Given the description of an element on the screen output the (x, y) to click on. 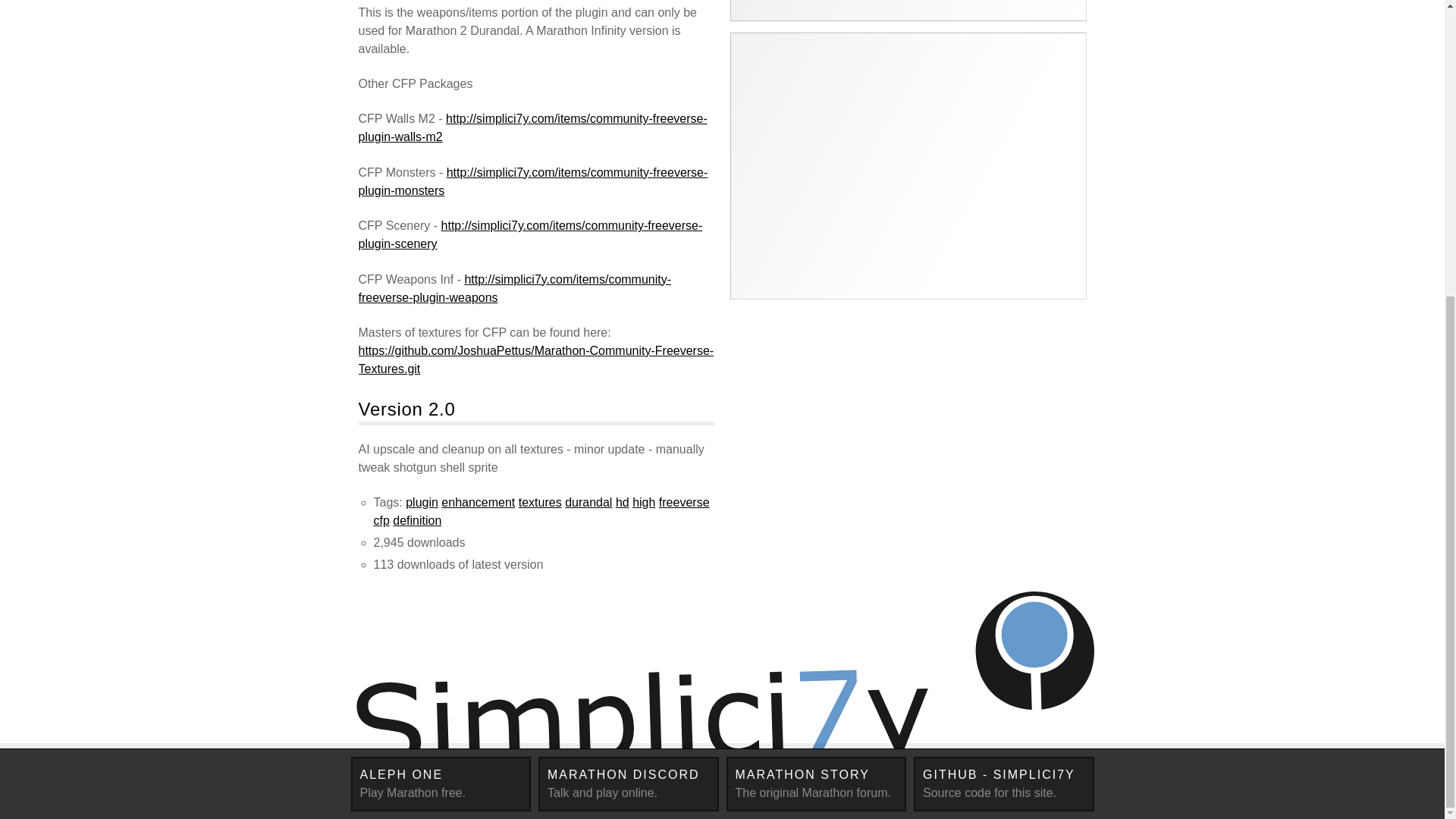
high (643, 502)
enhancement (478, 502)
definition (417, 520)
cfp (1004, 783)
plugin (380, 520)
textures (422, 502)
freeverse (540, 502)
hd (684, 502)
durandal (816, 783)
